Given the description of an element on the screen output the (x, y) to click on. 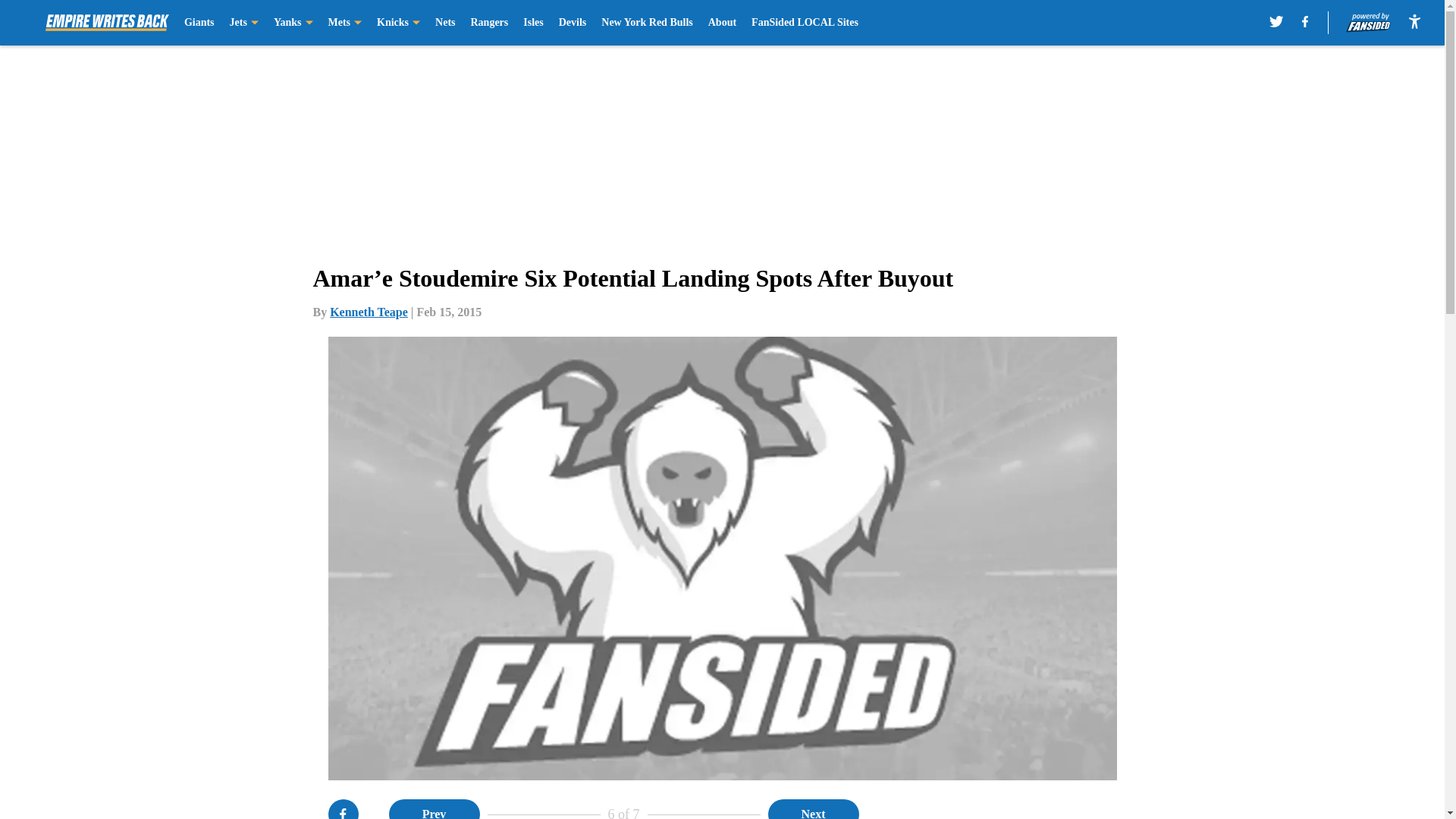
About (721, 22)
Prev (433, 809)
Giants (199, 22)
Next (813, 809)
Devils (572, 22)
FanSided LOCAL Sites (805, 22)
New York Red Bulls (647, 22)
Isles (532, 22)
Nets (444, 22)
Kenneth Teape (368, 311)
